Given the description of an element on the screen output the (x, y) to click on. 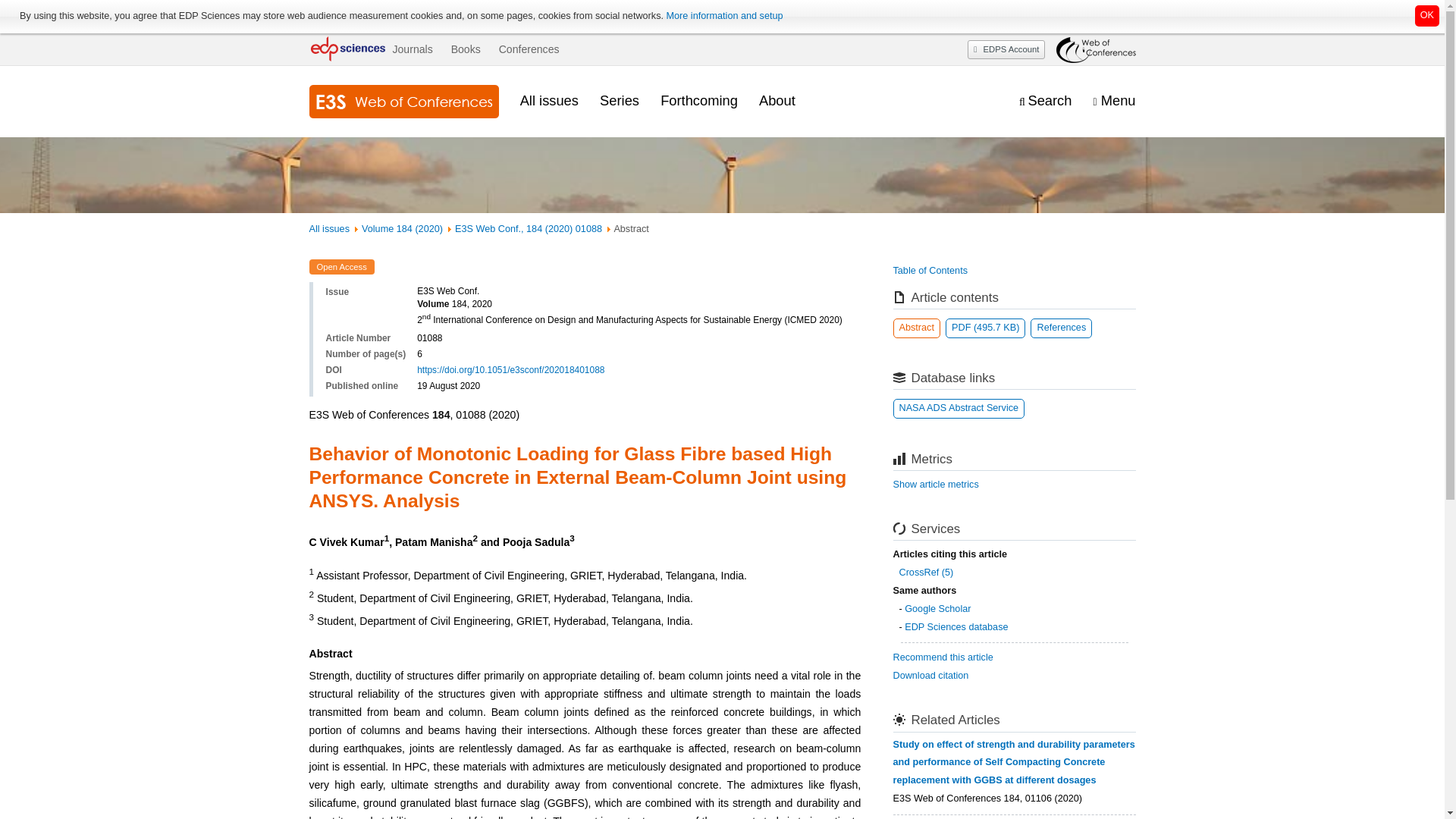
Journal homepage (403, 101)
Abstract (916, 328)
Books (465, 49)
Conferences (529, 49)
Click to close this notification (1427, 15)
Journals (411, 49)
OK (1427, 15)
Display the search engine (1045, 101)
More information and setup (724, 15)
